Given the description of an element on the screen output the (x, y) to click on. 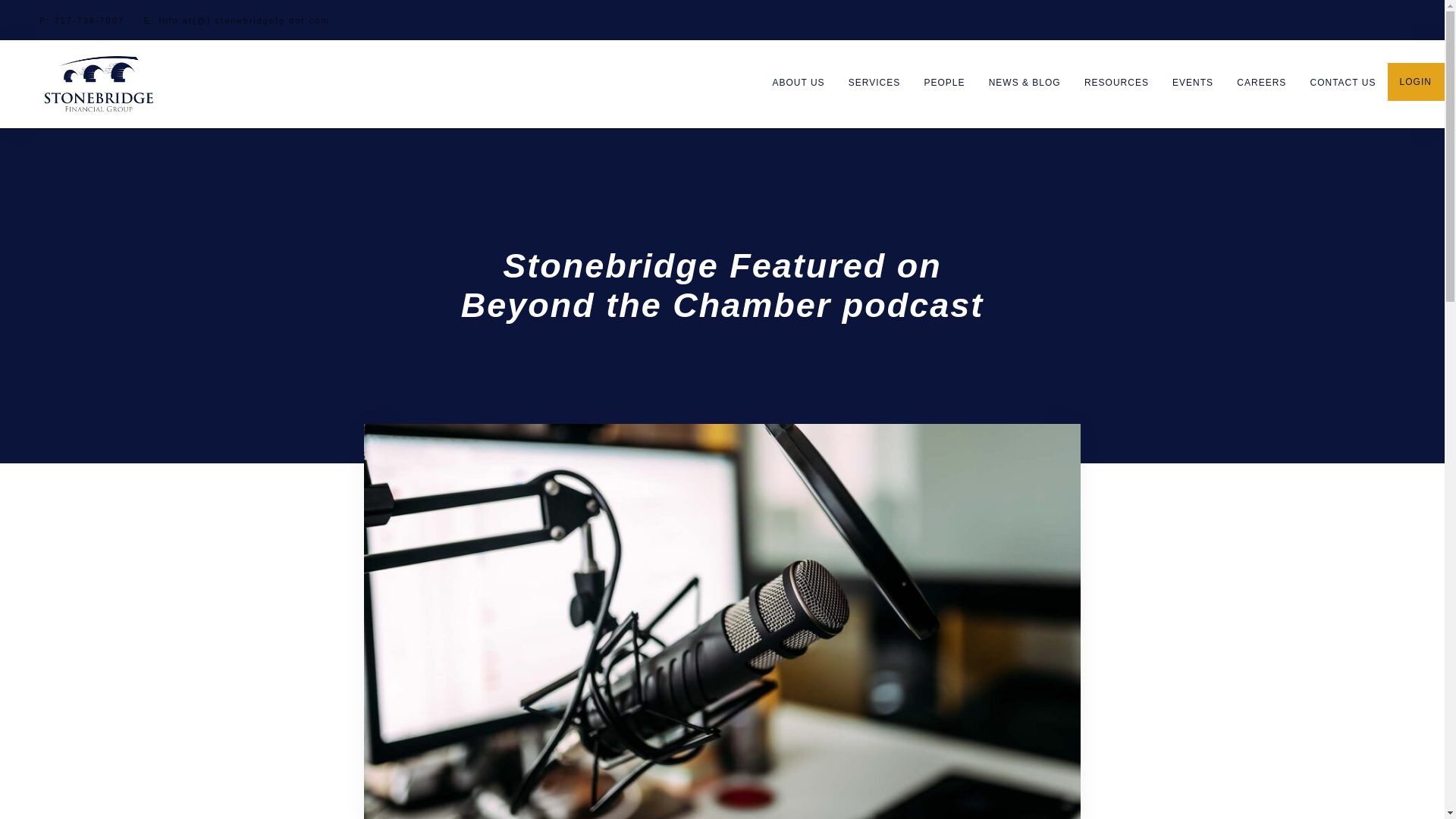
RESOURCES (1115, 83)
CONTACT US (1342, 83)
LOGIN (1409, 81)
